Given the description of an element on the screen output the (x, y) to click on. 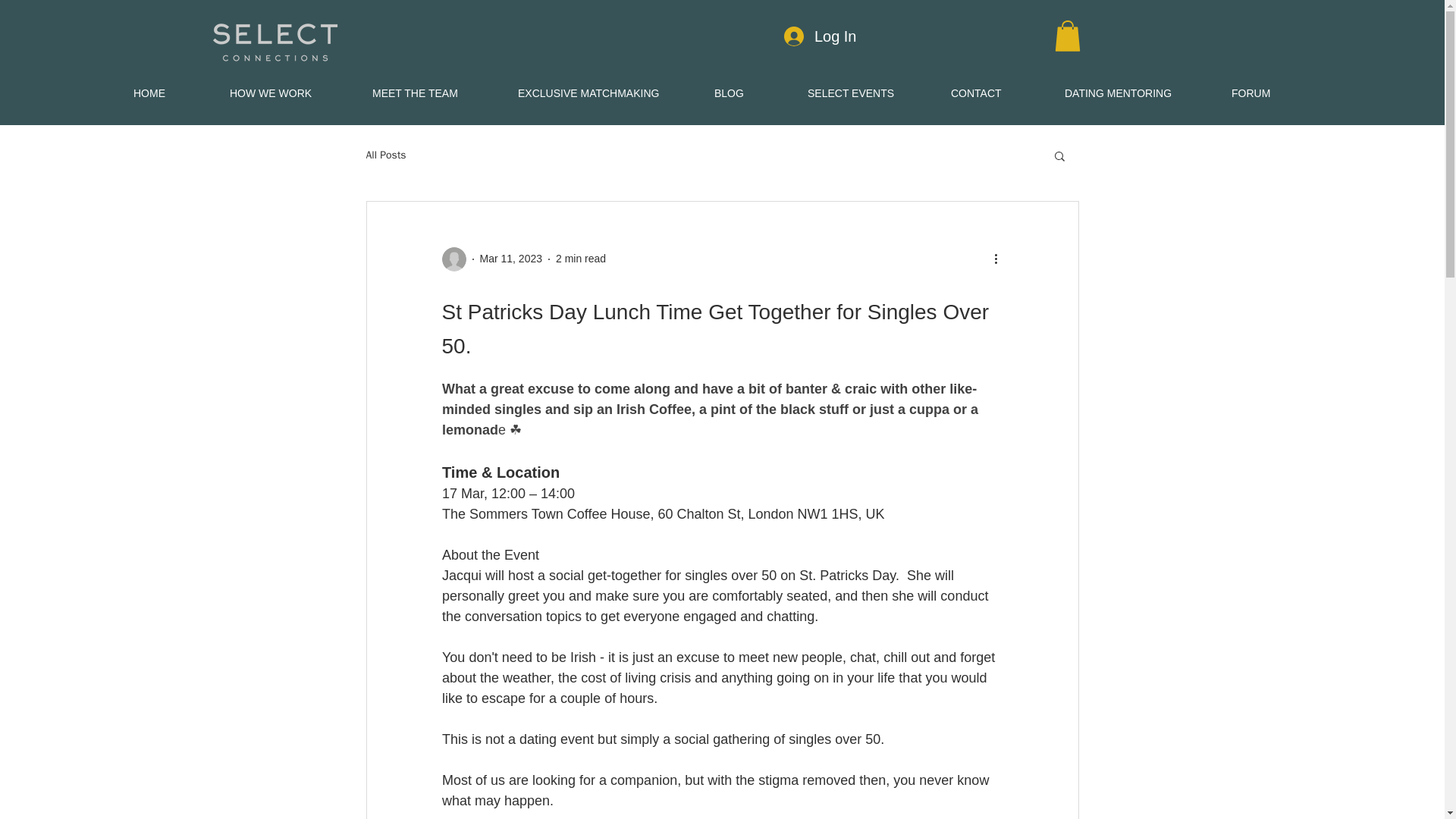
All Posts (385, 155)
BLOG (749, 93)
CONTACT (995, 93)
EXCLUSIVE MATCHMAKING (604, 93)
DATING MENTORING (1136, 93)
FORUM (1271, 93)
MEET THE TEAM (433, 93)
Mar 11, 2023 (510, 258)
HOW WE WORK (289, 93)
2 min read (580, 258)
